Given the description of an element on the screen output the (x, y) to click on. 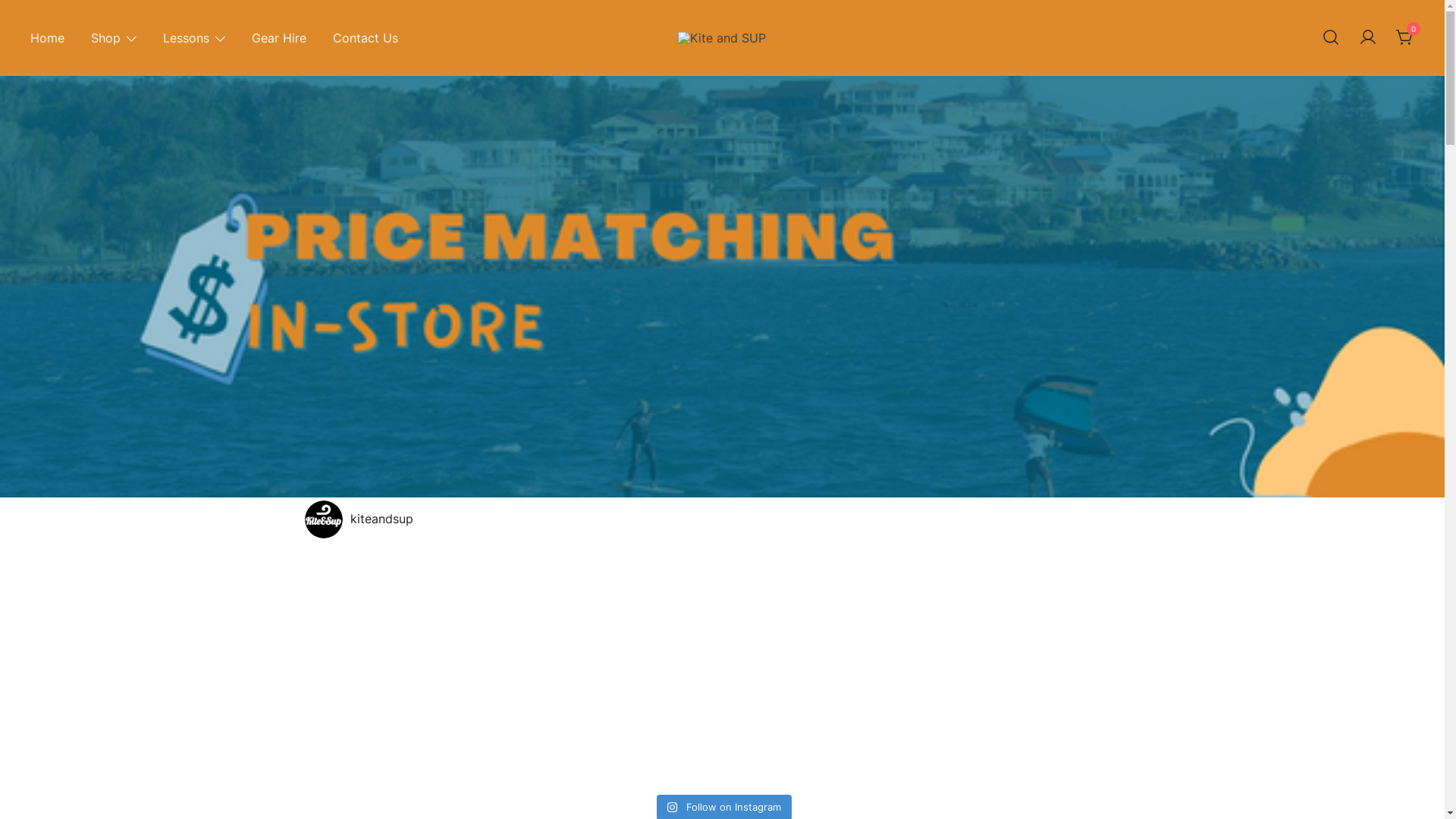
Home Element type: text (47, 37)
kiteandsup Element type: text (722, 519)
K&S Email Header (1) Element type: hover (722, 286)
Lessons Element type: text (186, 37)
Shop Element type: text (105, 37)
Your account Element type: hover (1367, 37)
Gear Hire Element type: text (278, 37)
0 Element type: text (1405, 35)
Kite and SUP Element type: text (725, 62)
Contact Us Element type: text (365, 37)
Search for a product Element type: hover (1330, 37)
